Given the description of an element on the screen output the (x, y) to click on. 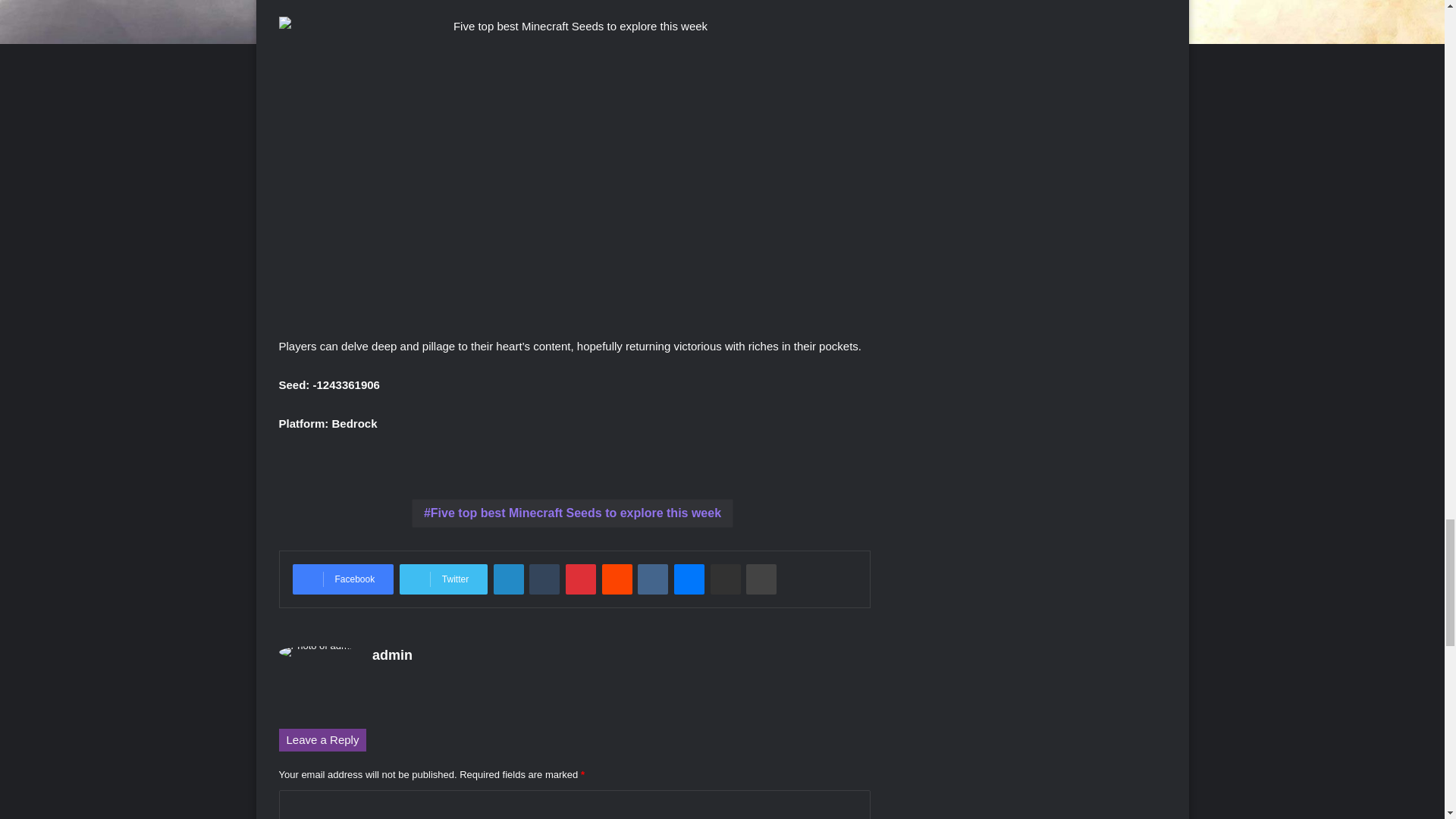
VKontakte (652, 579)
LinkedIn (508, 579)
Pinterest (580, 579)
Tumblr (544, 579)
Twitter (442, 579)
Pinterest (580, 579)
LinkedIn (508, 579)
Messenger (689, 579)
Messenger (689, 579)
Tumblr (544, 579)
Print (760, 579)
Facebook (343, 579)
Share via Email (725, 579)
VKontakte (652, 579)
Reddit (616, 579)
